Given the description of an element on the screen output the (x, y) to click on. 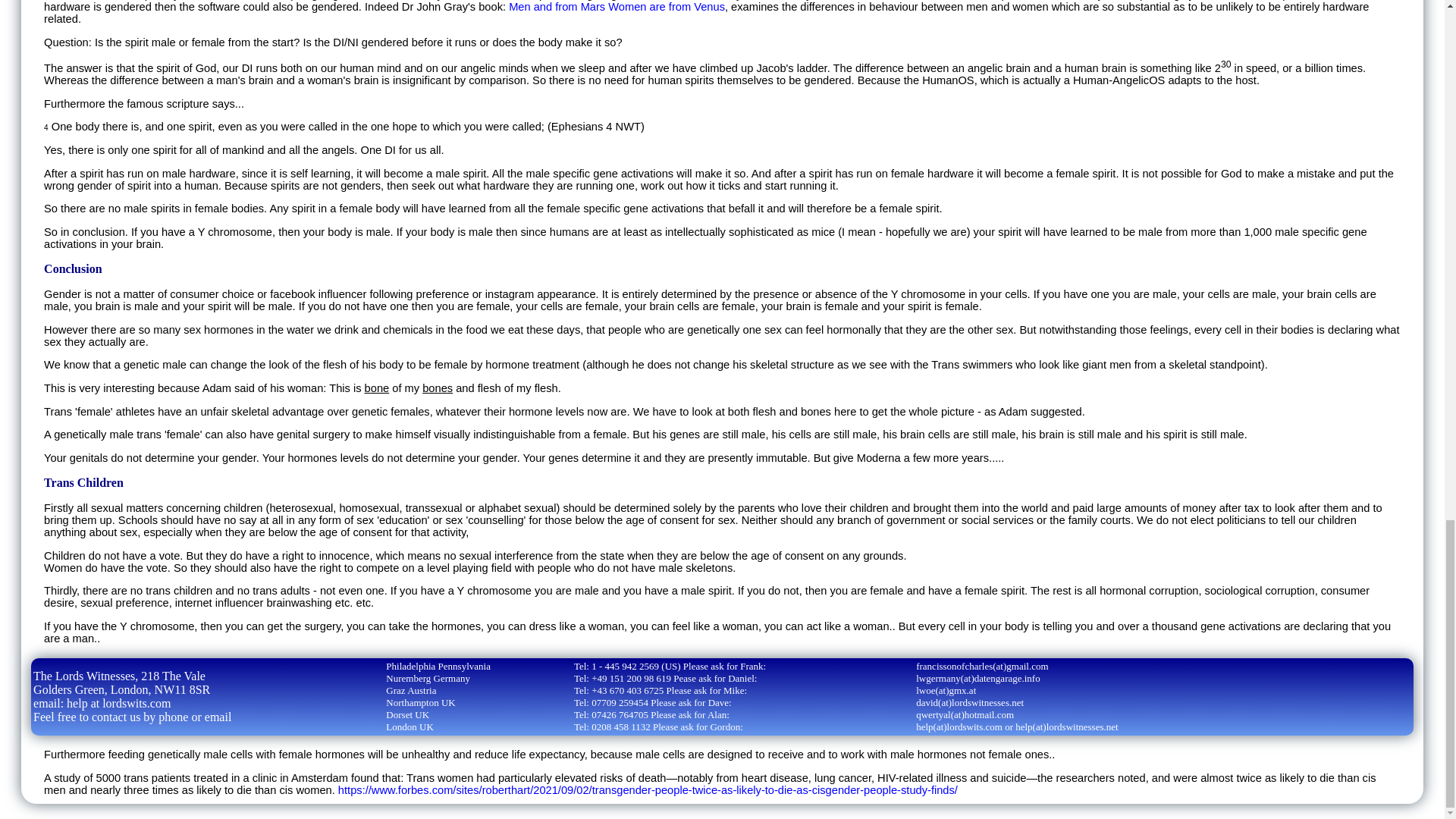
Men and from Mars Women are from Venus (616, 6)
